Given the description of an element on the screen output the (x, y) to click on. 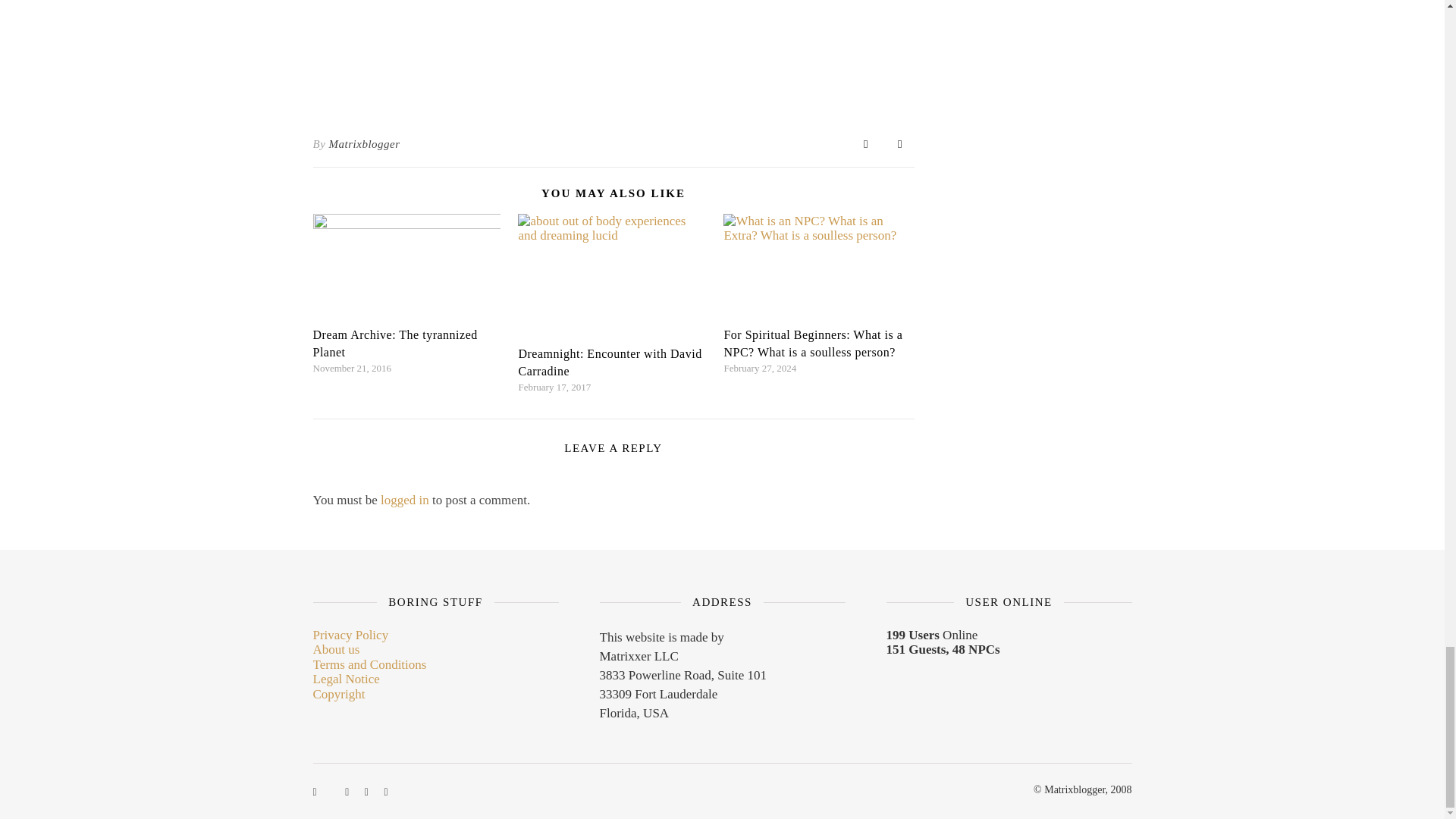
Posts by Matrixblogger (364, 143)
Dream Archive: The tyrannized Planet (395, 343)
Dreamnight: Encounter with David Carradine (609, 362)
Matrixblogger (364, 143)
logged in (404, 499)
